Given the description of an element on the screen output the (x, y) to click on. 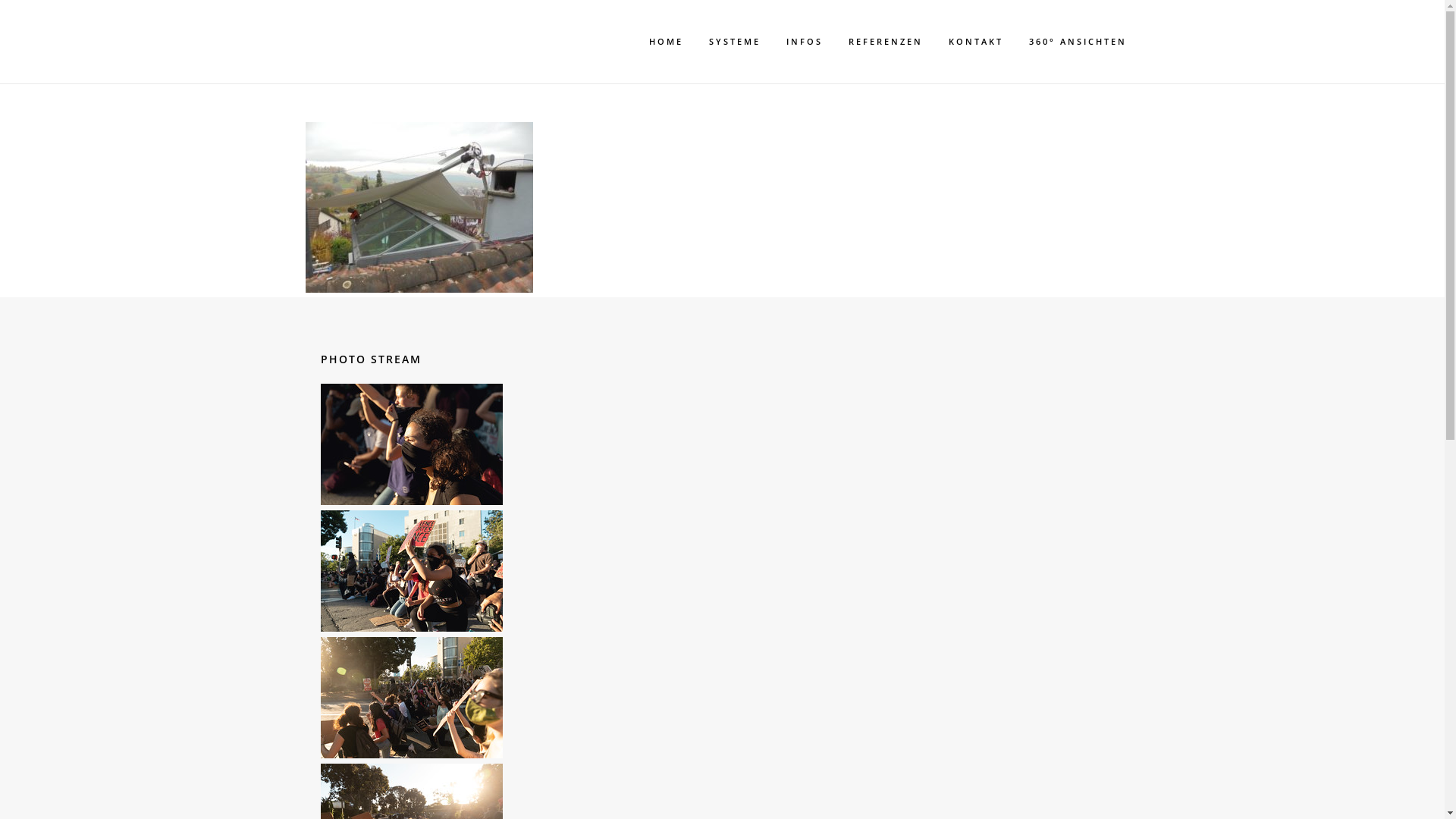
INFOS Element type: text (804, 41)
#7410 No Justice No Peace Element type: hover (411, 444)
SYSTEME Element type: text (734, 41)
HOME Element type: text (665, 41)
#7402 No Justice No Peace Element type: hover (411, 697)
REFERENZEN Element type: text (885, 41)
KONTAKT Element type: text (975, 41)
#7406 No Justice No Peace Element type: hover (411, 570)
